Given the description of an element on the screen output the (x, y) to click on. 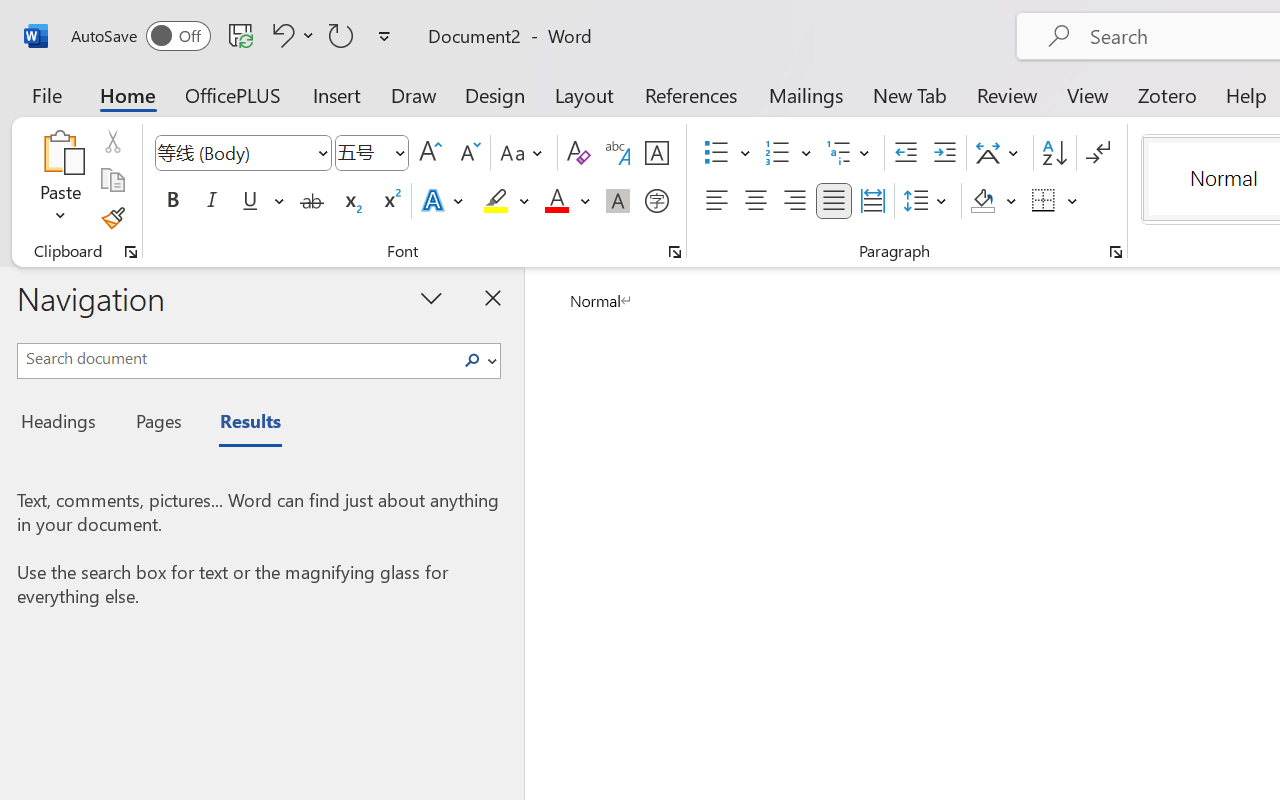
OfficePLUS (233, 94)
Font Color (567, 201)
Align Right (794, 201)
Customize Quick Access Toolbar (384, 35)
Asian Layout (1000, 153)
Font... (675, 252)
View (1087, 94)
Draw (413, 94)
Clear Formatting (578, 153)
Class: NetUIImage (471, 360)
Shading RGB(0, 0, 0) (982, 201)
Character Border (656, 153)
